Given the description of an element on the screen output the (x, y) to click on. 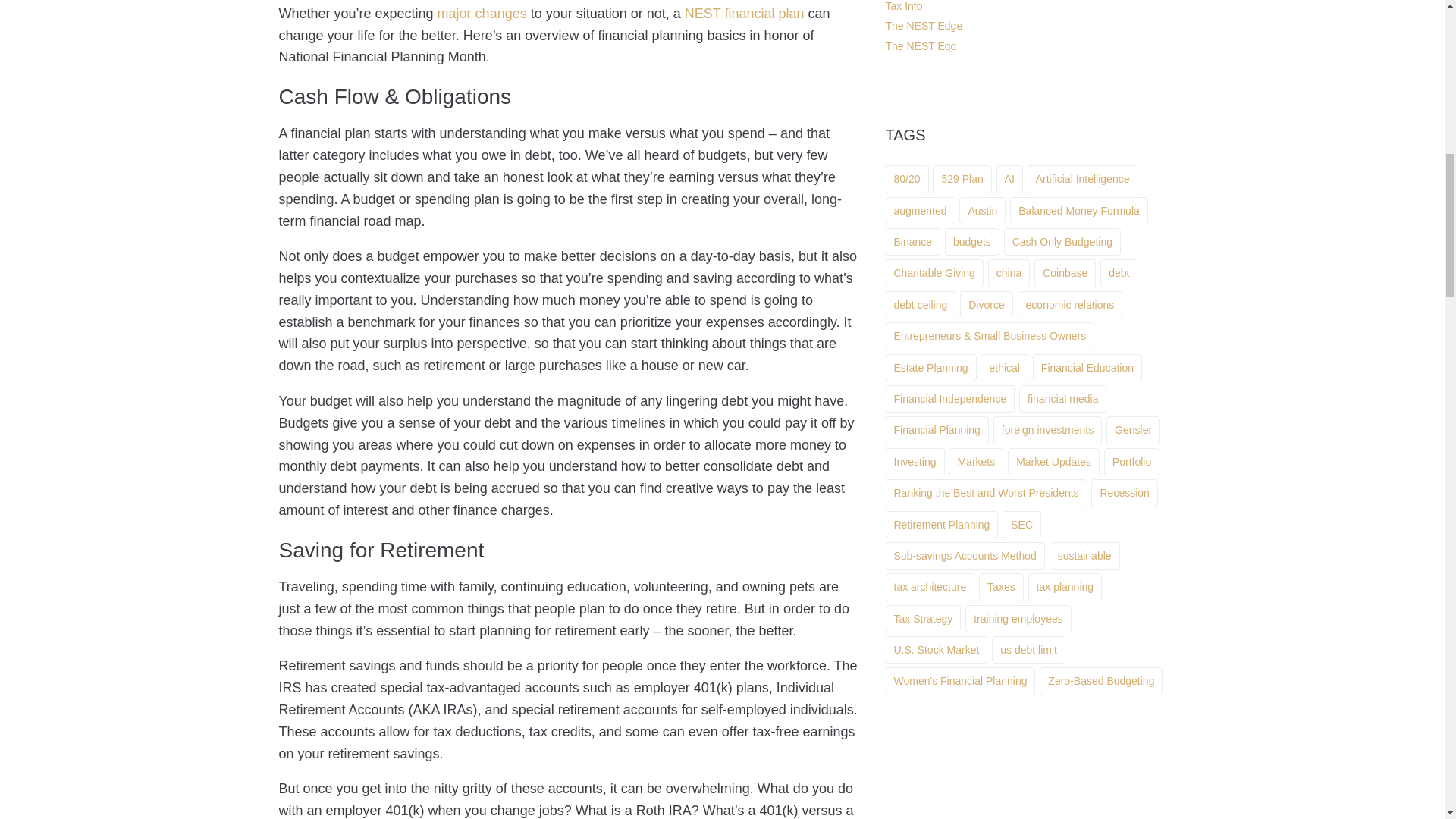
major changes (482, 13)
NEST financial plan (744, 13)
